Given the description of an element on the screen output the (x, y) to click on. 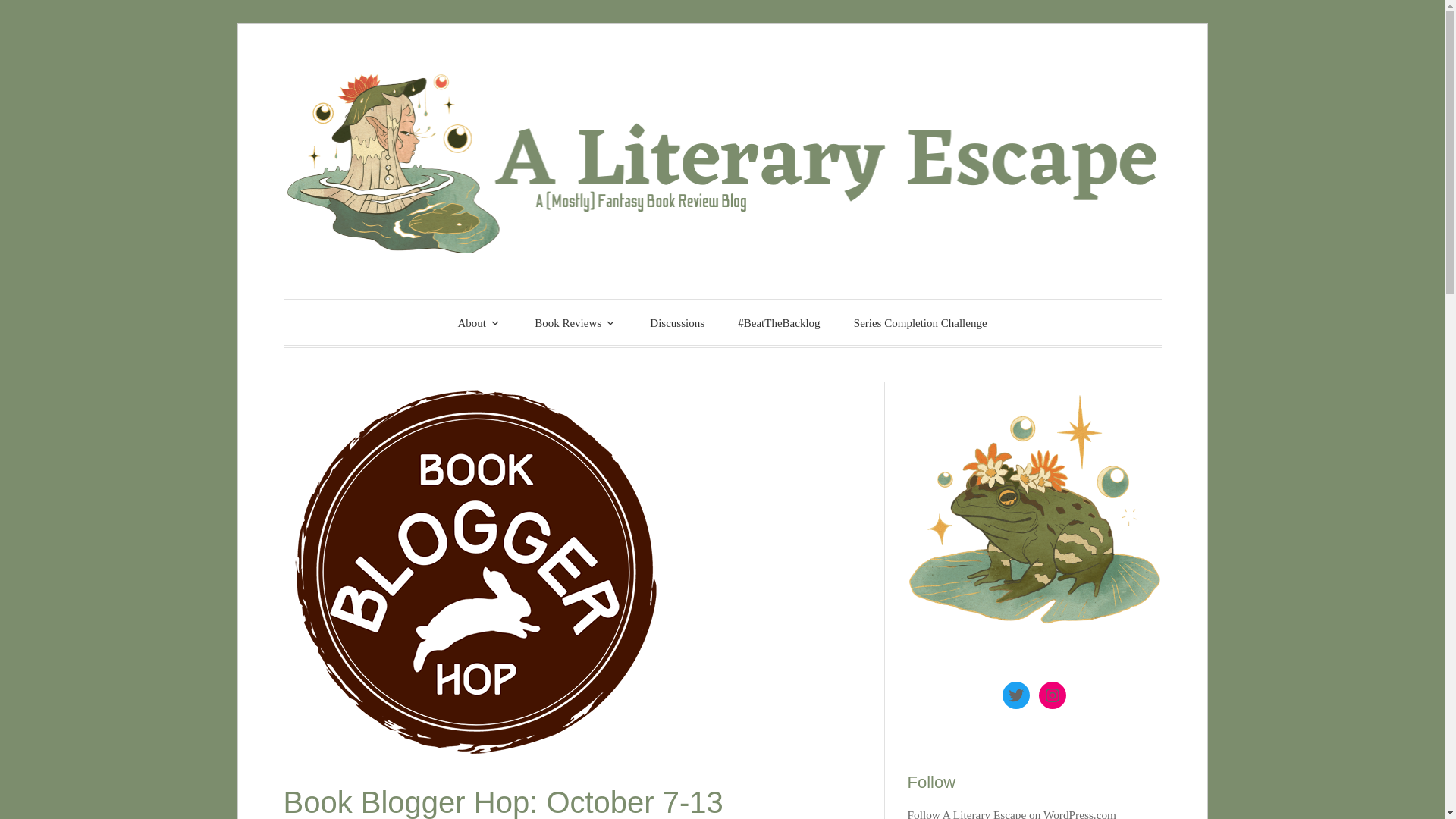
Series Completion Challenge (920, 323)
Book Reviews (575, 322)
Instagram (1052, 695)
About (479, 322)
Discussions (676, 323)
Twitter (1016, 695)
A Literary Escape (506, 320)
Follow A Literary Escape on WordPress.com (1011, 813)
